Given the description of an element on the screen output the (x, y) to click on. 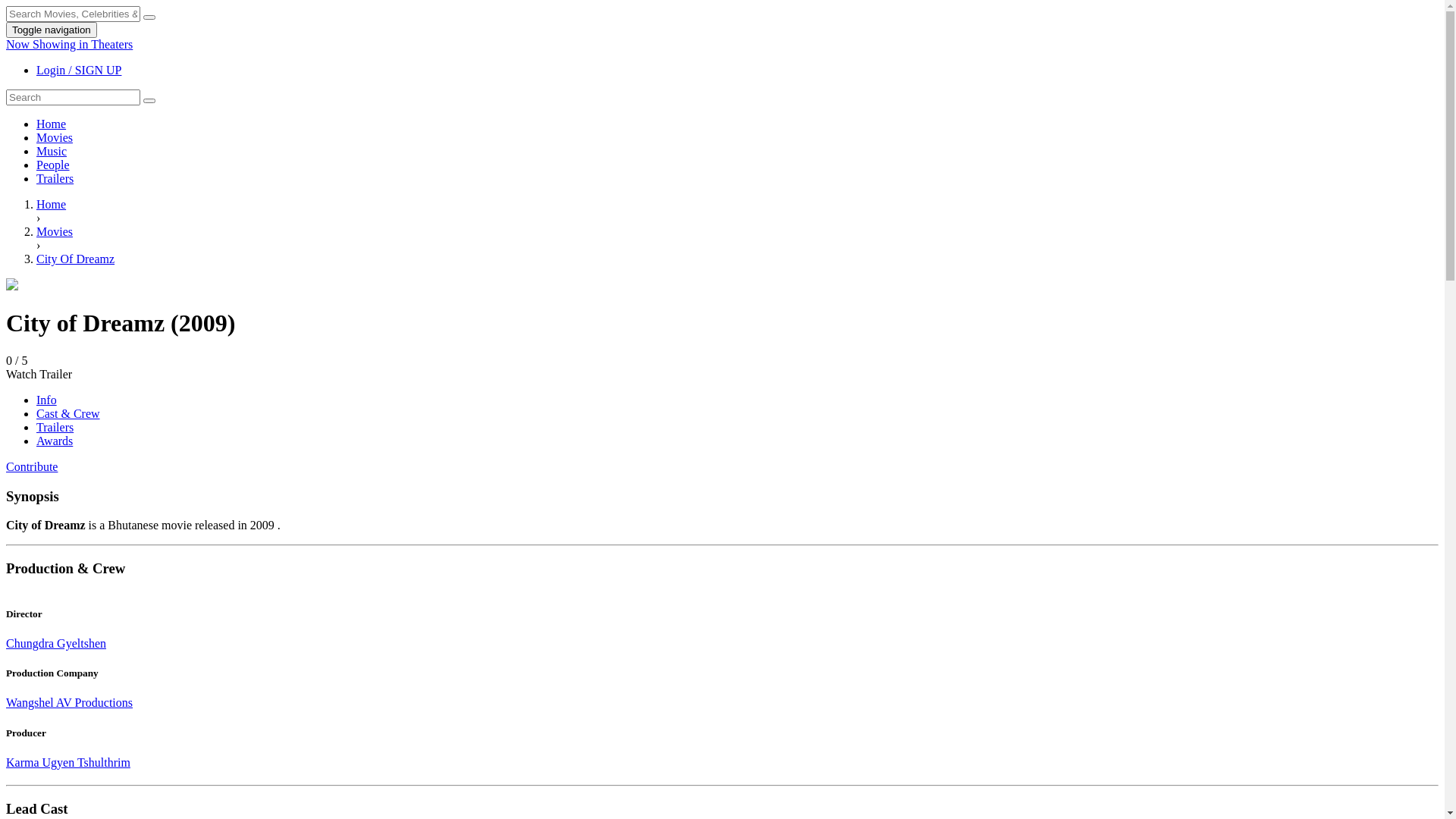
People Element type: text (52, 164)
Karma Ugyen Tshulthrim Element type: text (68, 762)
Login / SIGN UP Element type: text (78, 69)
Toggle navigation Element type: text (51, 29)
Movies Element type: text (54, 231)
Awards Element type: text (54, 440)
Contribute Element type: text (31, 466)
Home Element type: text (50, 203)
Info Element type: text (46, 399)
Wangshel AV Productions Element type: text (69, 702)
Chungdra Gyeltshen Element type: text (56, 643)
Movies Element type: text (54, 137)
Trailers Element type: text (54, 178)
Now Showing in Theaters Element type: text (69, 43)
Trailers Element type: text (54, 426)
Home Element type: text (50, 123)
City Of Dreamz Element type: text (75, 258)
Music Element type: text (51, 150)
Cast & Crew Element type: text (68, 413)
